Given the description of an element on the screen output the (x, y) to click on. 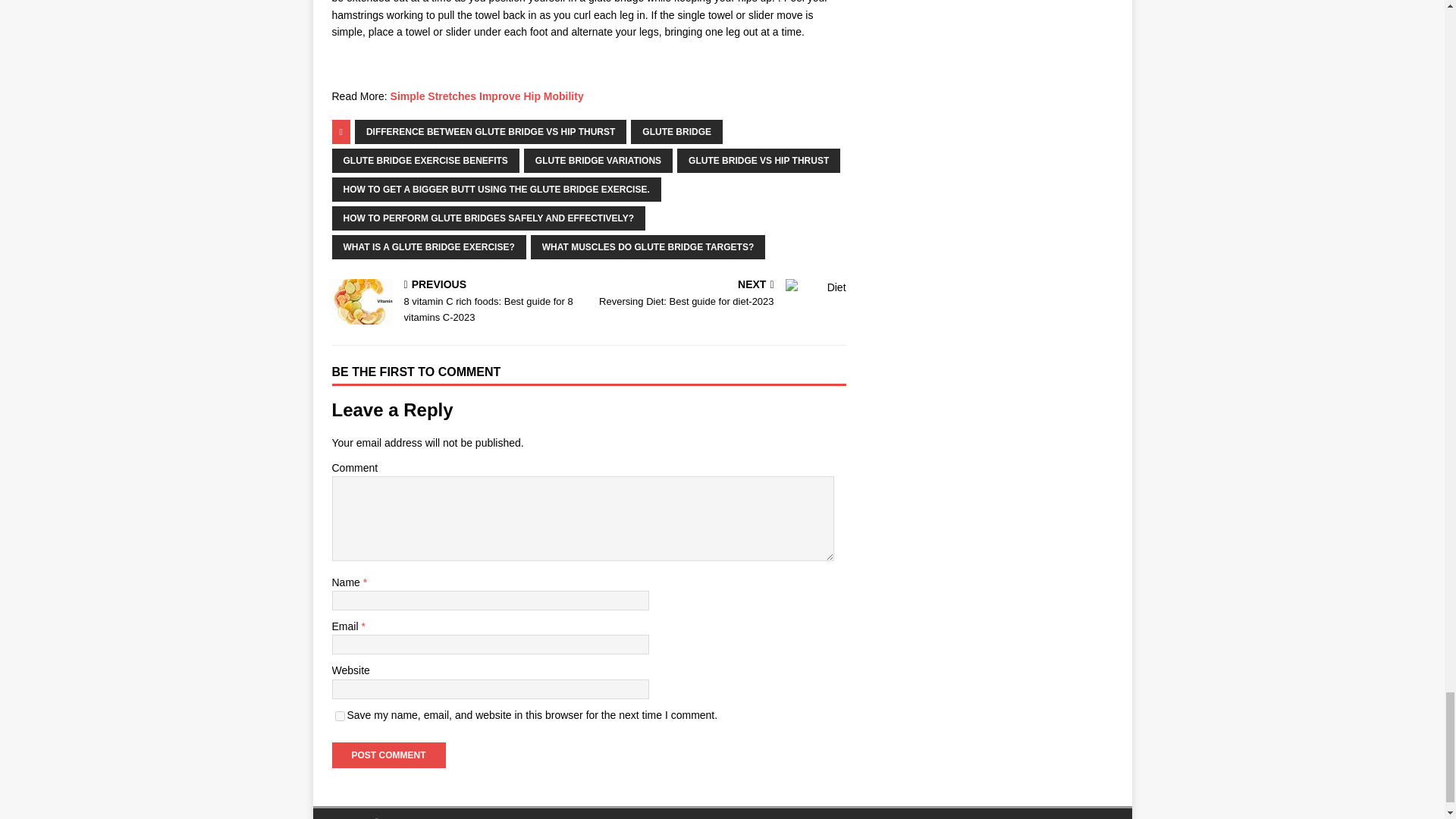
Post Comment (388, 755)
yes (339, 716)
DIFFERENCE BETWEEN GLUTE BRIDGE VS HIP THURST (490, 131)
Simple Stretches Improve Hip Mobility (486, 96)
